Given the description of an element on the screen output the (x, y) to click on. 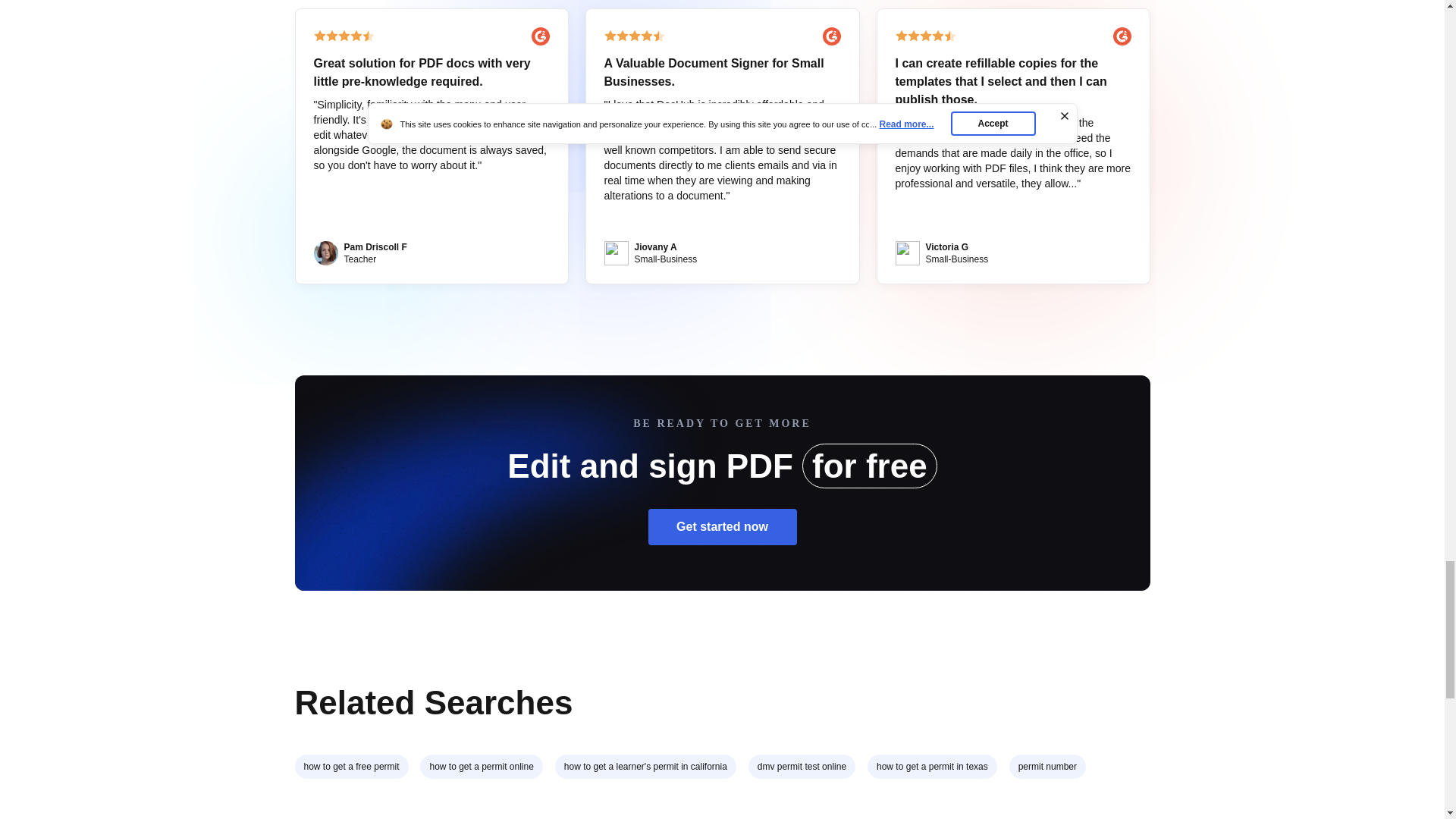
Get started now (721, 526)
